Given the description of an element on the screen output the (x, y) to click on. 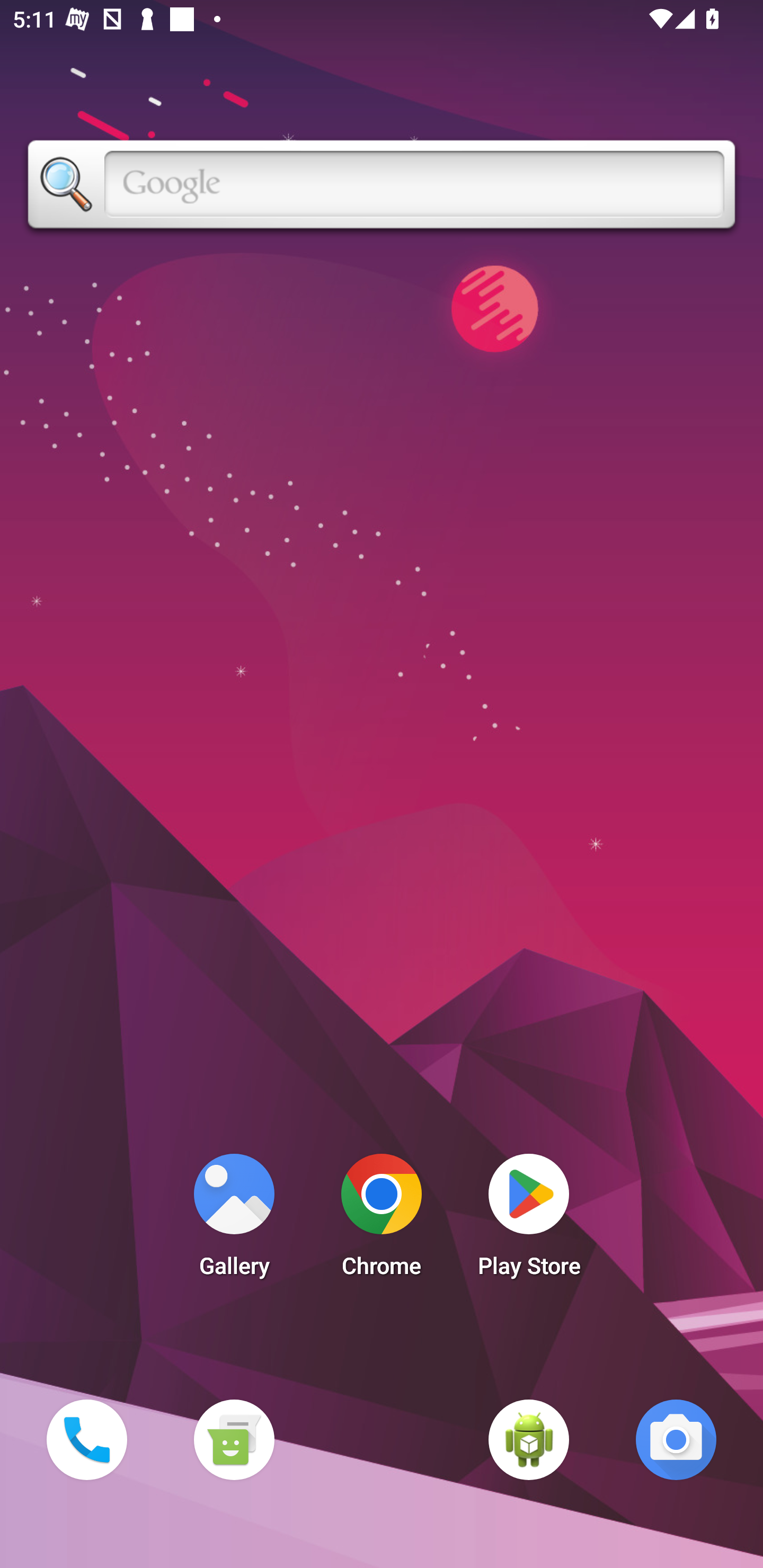
Gallery (233, 1220)
Chrome (381, 1220)
Play Store (528, 1220)
Phone (86, 1439)
Messaging (233, 1439)
WebView Browser Tester (528, 1439)
Camera (676, 1439)
